Given the description of an element on the screen output the (x, y) to click on. 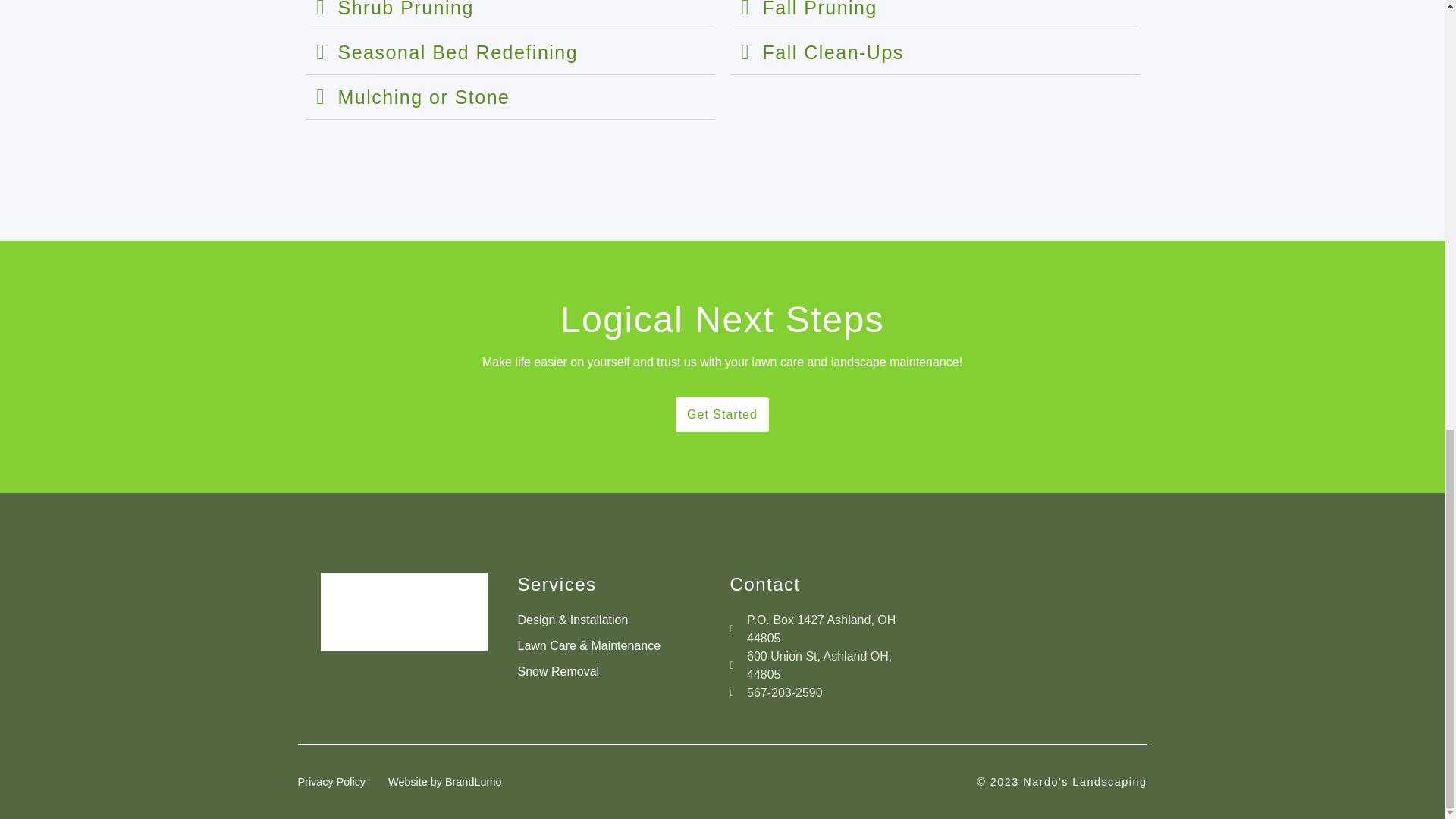
Snow Removal (615, 671)
Get Started (721, 414)
Website by BrandLumo (444, 781)
Fall Clean-Ups (833, 52)
Mulching or Stone (424, 96)
Seasonal Bed Redefining (457, 52)
Privacy Policy (331, 781)
Fall Pruning (819, 9)
Shrub Pruning (405, 9)
567-203-2590 (827, 692)
